Given the description of an element on the screen output the (x, y) to click on. 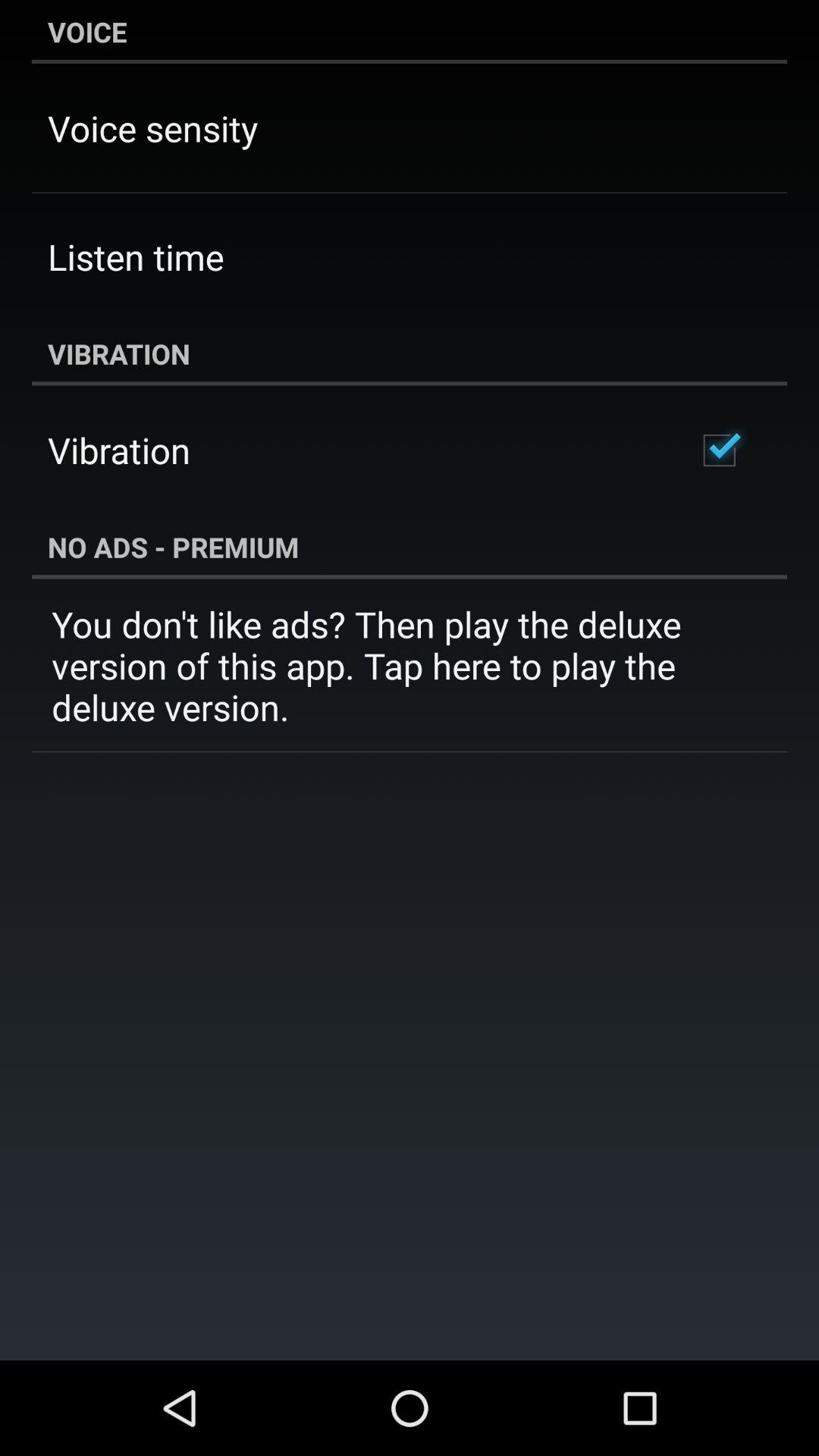
turn off app above vibration app (135, 256)
